Given the description of an element on the screen output the (x, y) to click on. 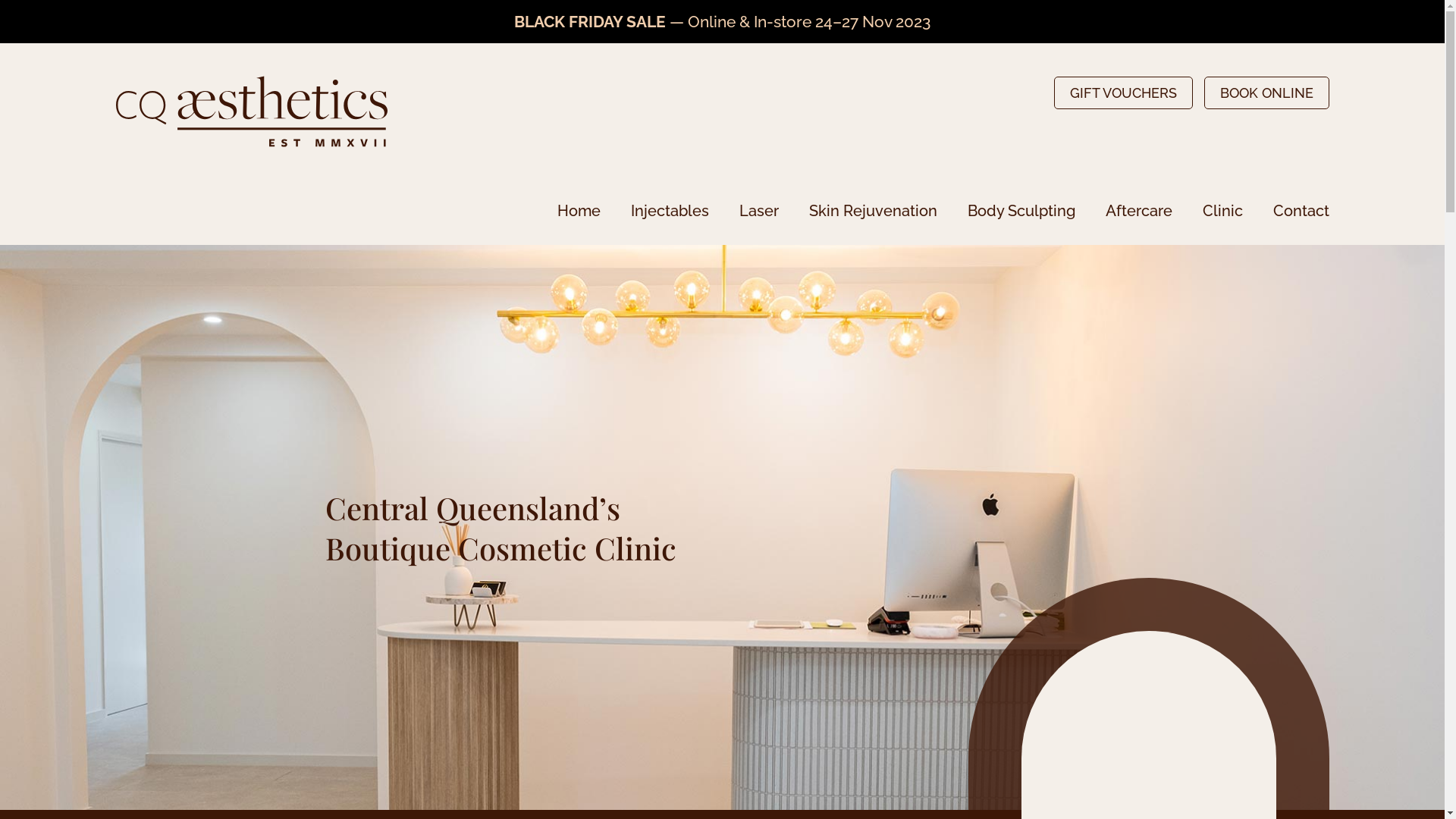
Laser Element type: text (758, 210)
Clinic Element type: text (1222, 210)
Injectables Element type: text (669, 210)
Home Element type: text (578, 210)
BOOK ONLINE Element type: text (1266, 92)
Contact Element type: text (1300, 210)
Body Sculpting Element type: text (1021, 210)
Aftercare Element type: text (1138, 210)
GIFT VOUCHERS Element type: text (1123, 92)
Skin Rejuvenation Element type: text (872, 210)
